Given the description of an element on the screen output the (x, y) to click on. 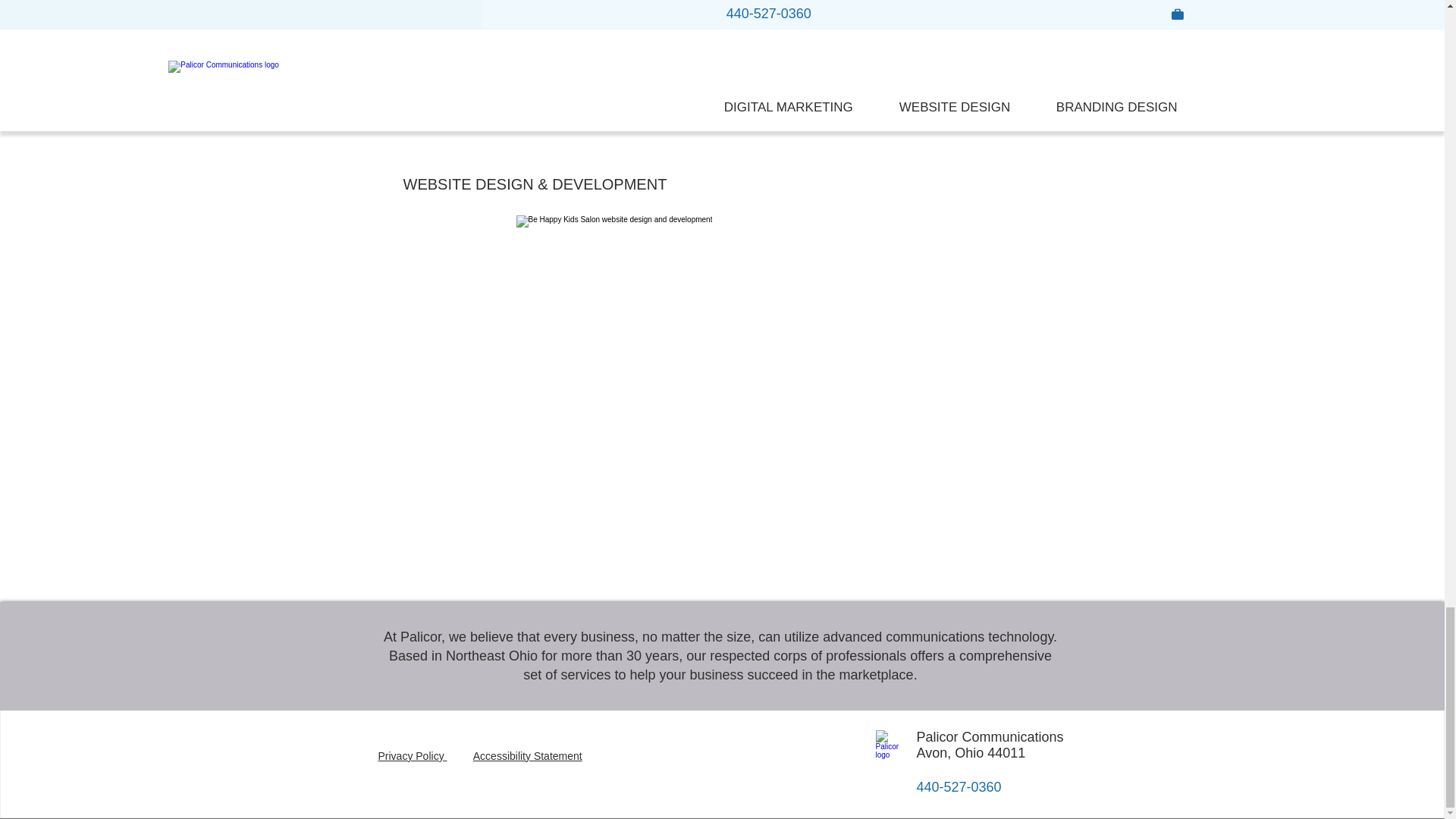
440-527-0360 (964, 787)
juice-me.jpg (710, 375)
Palicor Communications (891, 746)
Privacy Policy  (411, 756)
Accessibility Statement (527, 756)
makeover-banner.jpg (923, 22)
makeover-banner.jpg (579, 58)
